Given the description of an element on the screen output the (x, y) to click on. 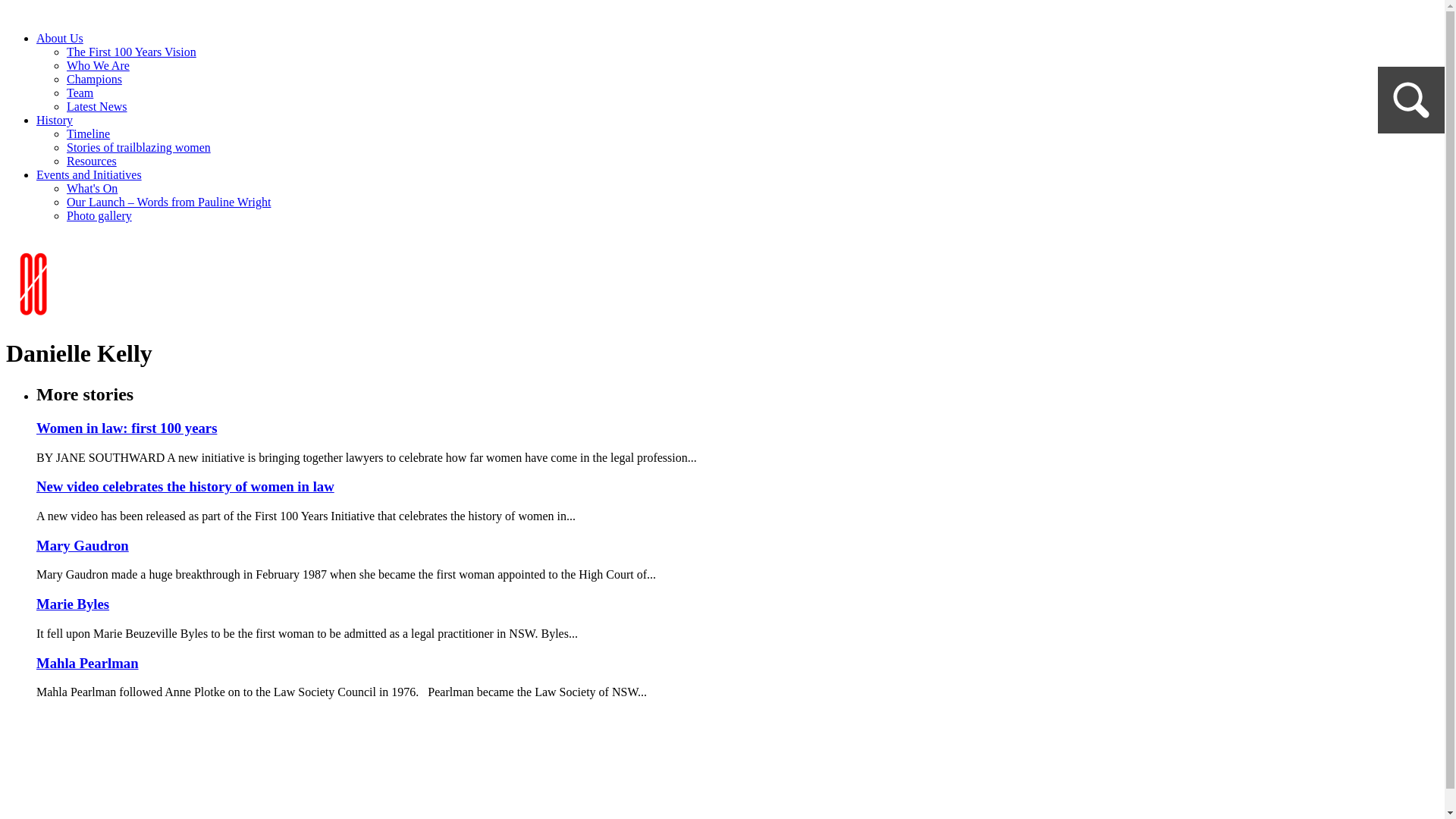
Team Element type: text (79, 92)
Resources Element type: text (91, 160)
Timeline Element type: text (87, 133)
New video celebrates the history of women in law Element type: text (185, 486)
Who We Are Element type: text (97, 65)
About Us Element type: text (59, 37)
Events and Initiatives Element type: text (88, 174)
Stories of trailblazing women Element type: text (138, 147)
Photo gallery Element type: text (98, 215)
Women in law: first 100 years Element type: text (126, 428)
The First 100 Years Vision Element type: text (131, 51)
What's On Element type: text (91, 188)
Latest News Element type: text (96, 106)
Mahla Pearlman Element type: text (87, 663)
Marie Byles Element type: text (72, 603)
History Element type: text (54, 119)
Mary Gaudron Element type: text (82, 545)
Champions Element type: text (94, 78)
